Given the description of an element on the screen output the (x, y) to click on. 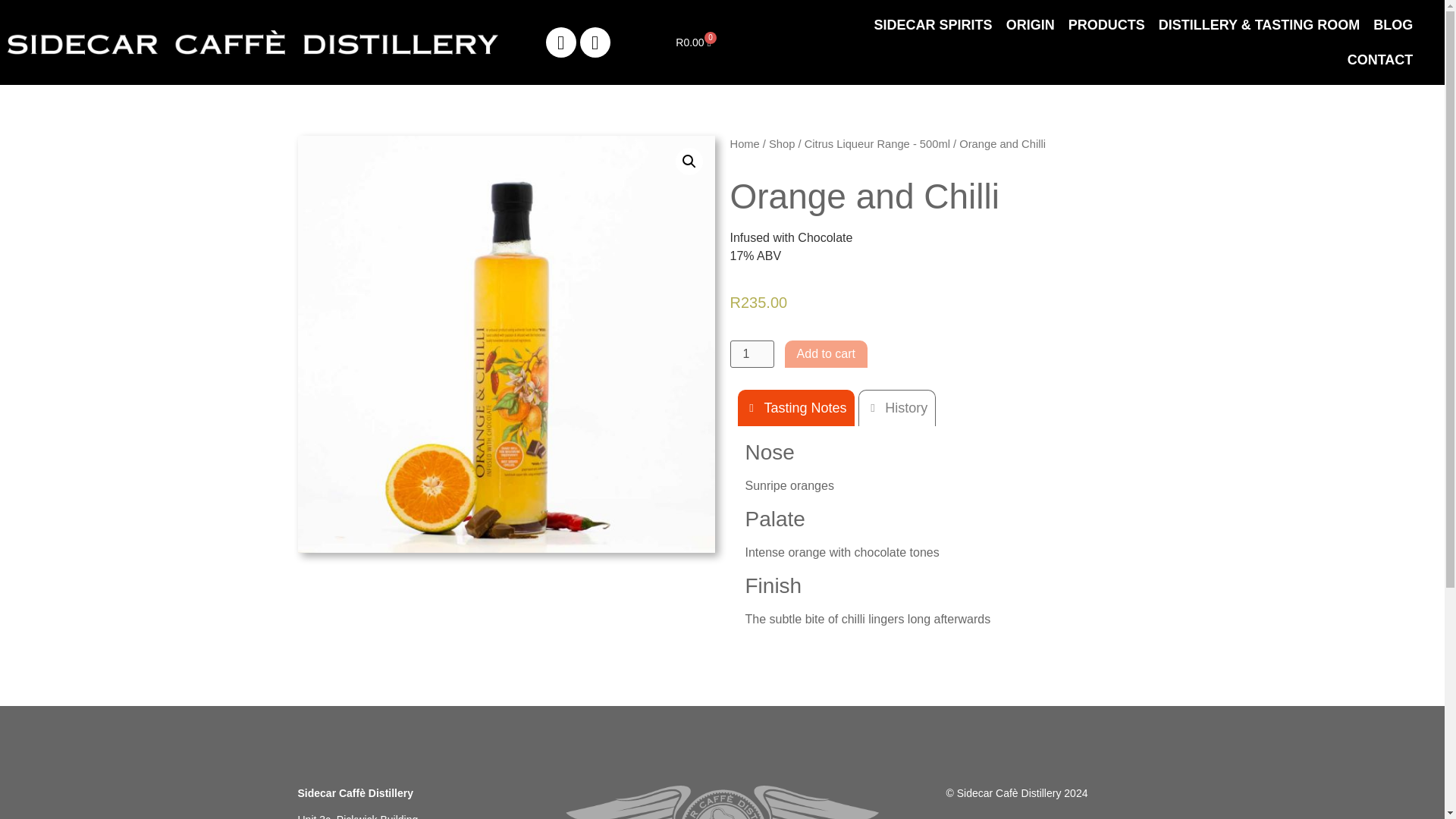
Home (743, 143)
1 (751, 353)
BLOG (1393, 24)
SIDECAR SPIRITS (932, 24)
ORIGIN (1029, 24)
Shop (781, 143)
PRODUCTS (1106, 24)
CONTACT (1380, 59)
Citrus Liqueur Range - 500ml (877, 143)
Add to cart (825, 353)
